Given the description of an element on the screen output the (x, y) to click on. 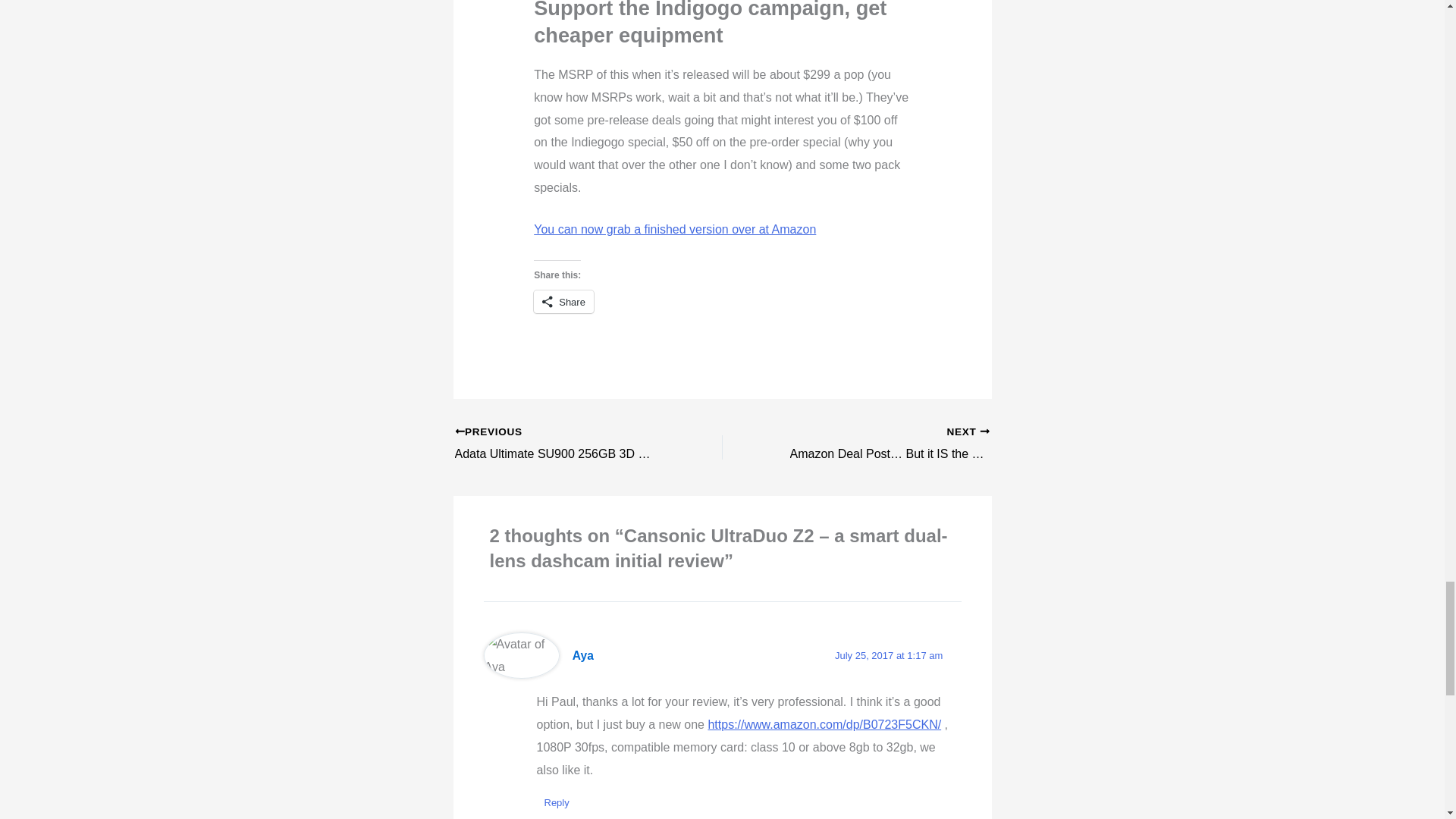
Adata Ultimate SU900 256GB 3D MLC SSD review (561, 444)
